Given the description of an element on the screen output the (x, y) to click on. 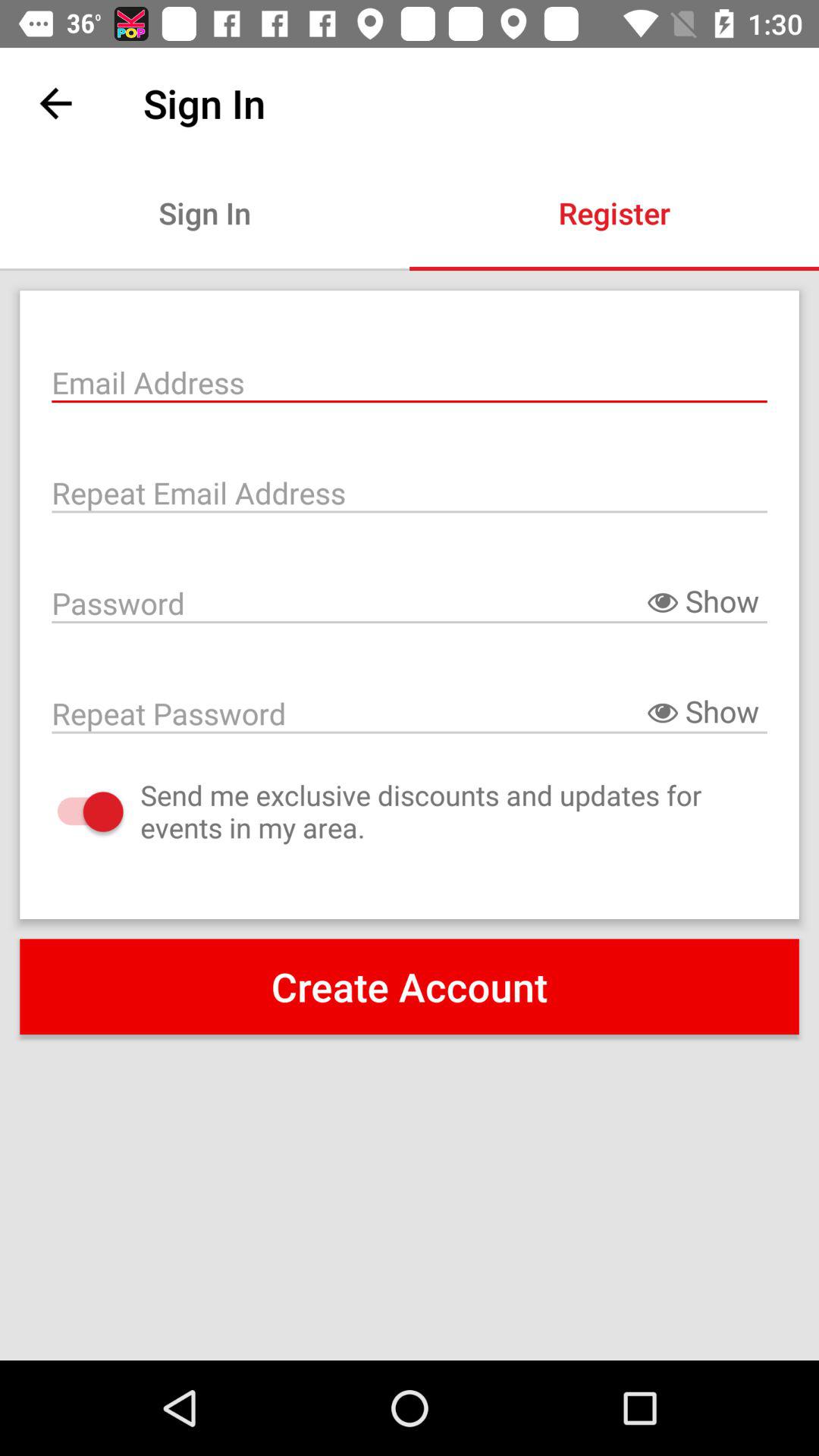
re-enter email address (409, 491)
